Given the description of an element on the screen output the (x, y) to click on. 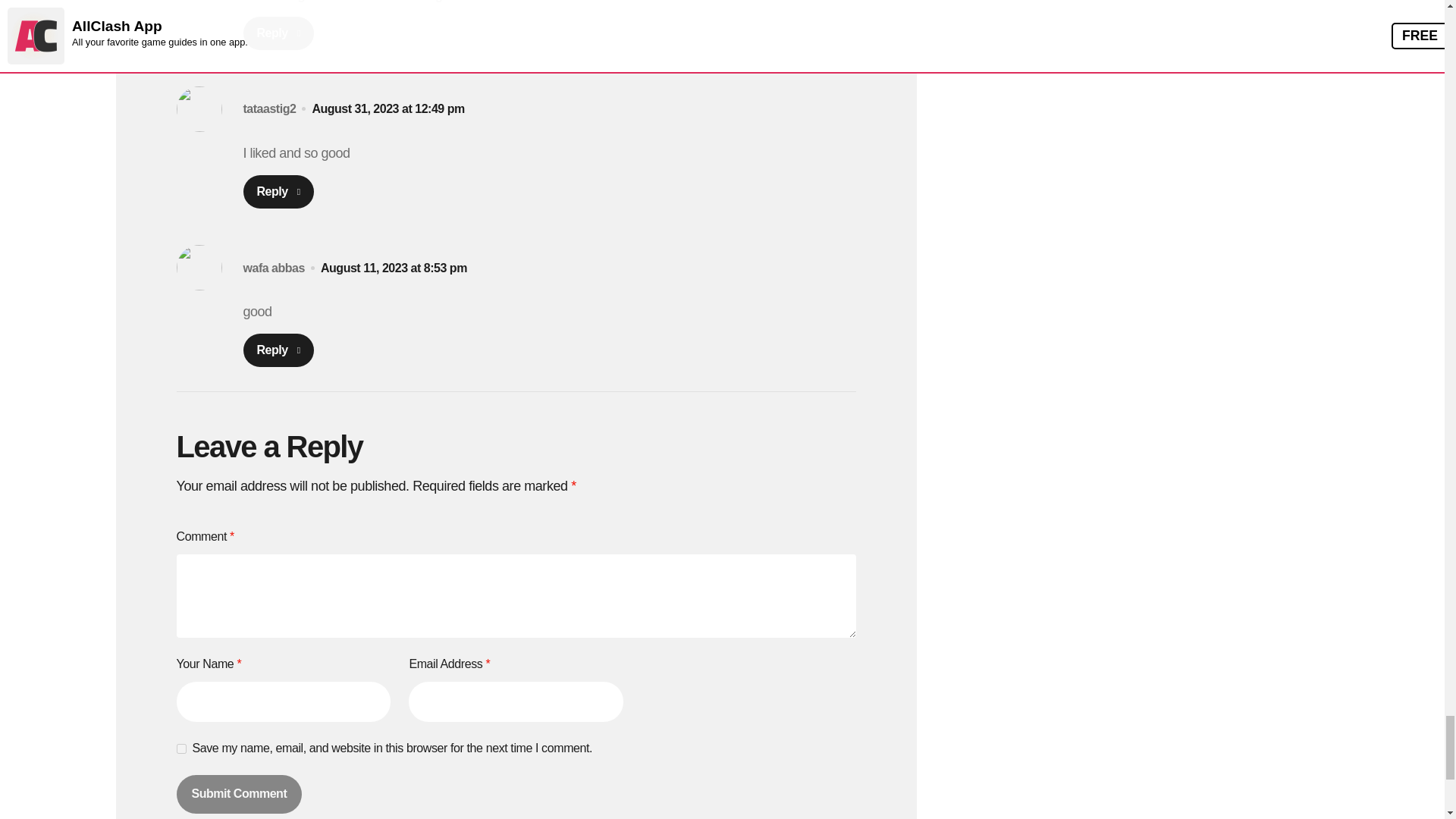
yes (181, 748)
